Given the description of an element on the screen output the (x, y) to click on. 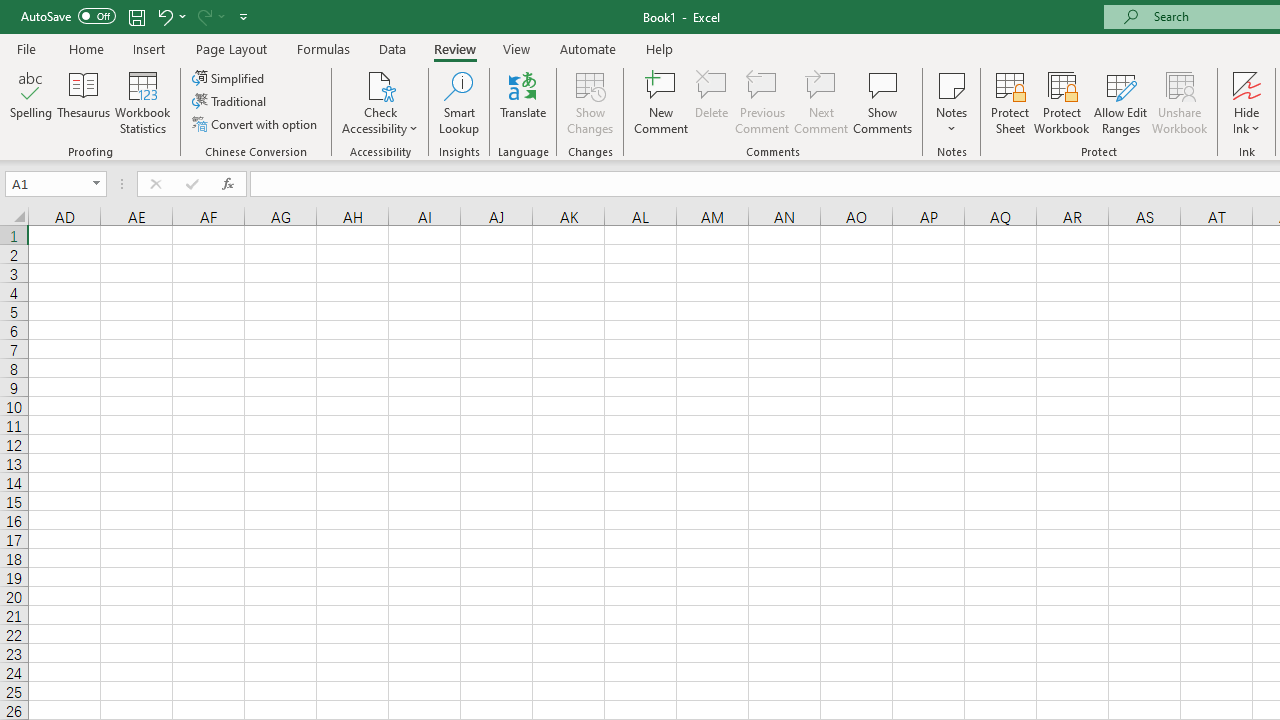
Previous Comment (762, 102)
Traditional (230, 101)
Workbook Statistics (142, 102)
Thesaurus... (83, 102)
Protect Workbook... (1061, 102)
Allow Edit Ranges (1120, 102)
Next Comment (821, 102)
New Comment (661, 102)
